Given the description of an element on the screen output the (x, y) to click on. 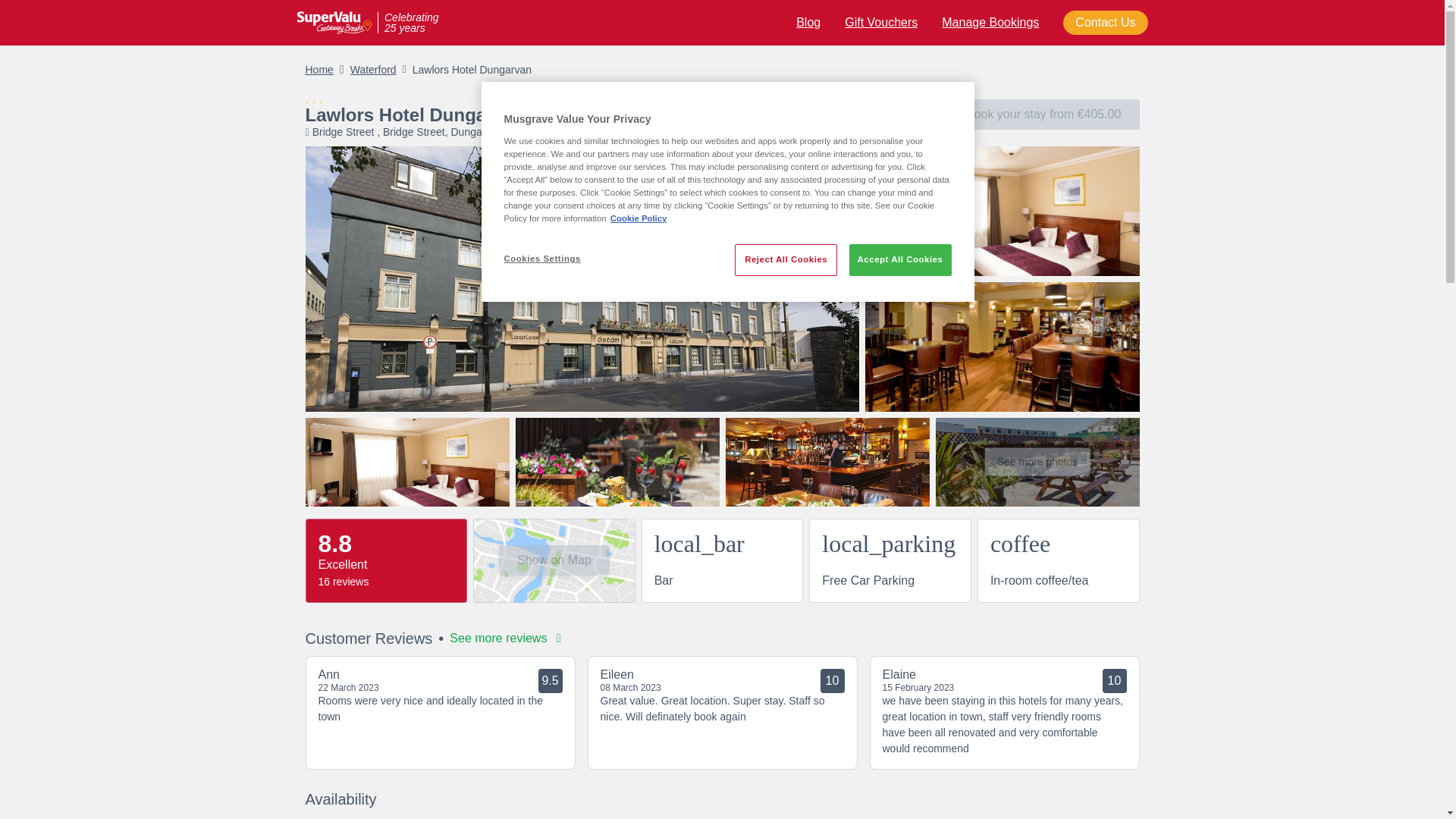
See more photos (1037, 461)
Manage Bookings (990, 21)
Home (318, 69)
Blog (808, 21)
Waterford (373, 69)
Show on Map (554, 560)
See more reviews (504, 638)
Contact Us (1104, 22)
Show on Map (590, 132)
Gift Vouchers (880, 21)
